Given the description of an element on the screen output the (x, y) to click on. 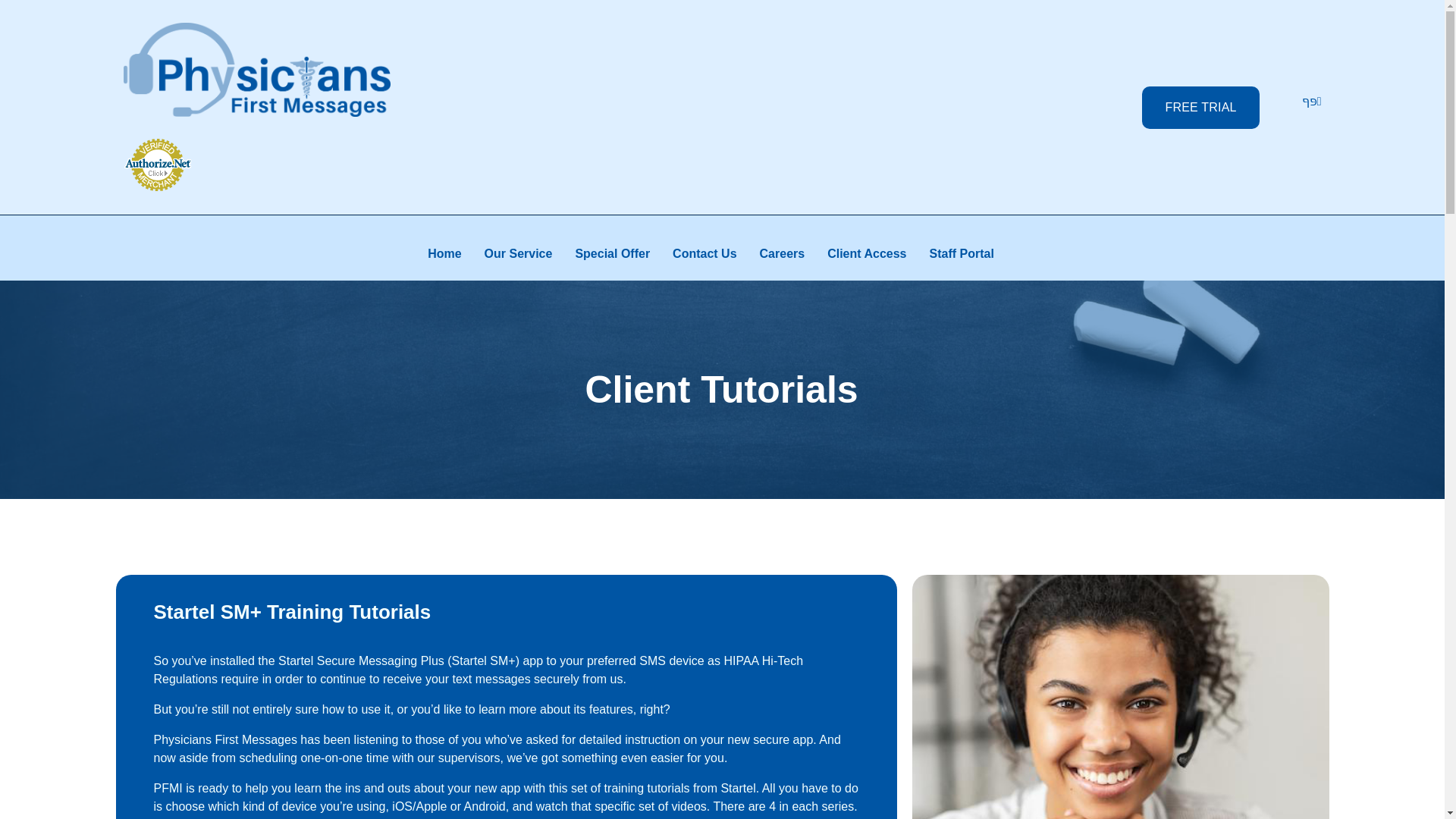
FREE TRIAL (1200, 107)
Special Offer (623, 253)
Home (455, 253)
Physicians First Messages, Inc. (259, 125)
Staff Portal (973, 253)
Client Access (877, 253)
Physicians First Messages, Inc. (259, 125)
Our Service (529, 253)
Contact Us (715, 253)
Careers (794, 253)
